Given the description of an element on the screen output the (x, y) to click on. 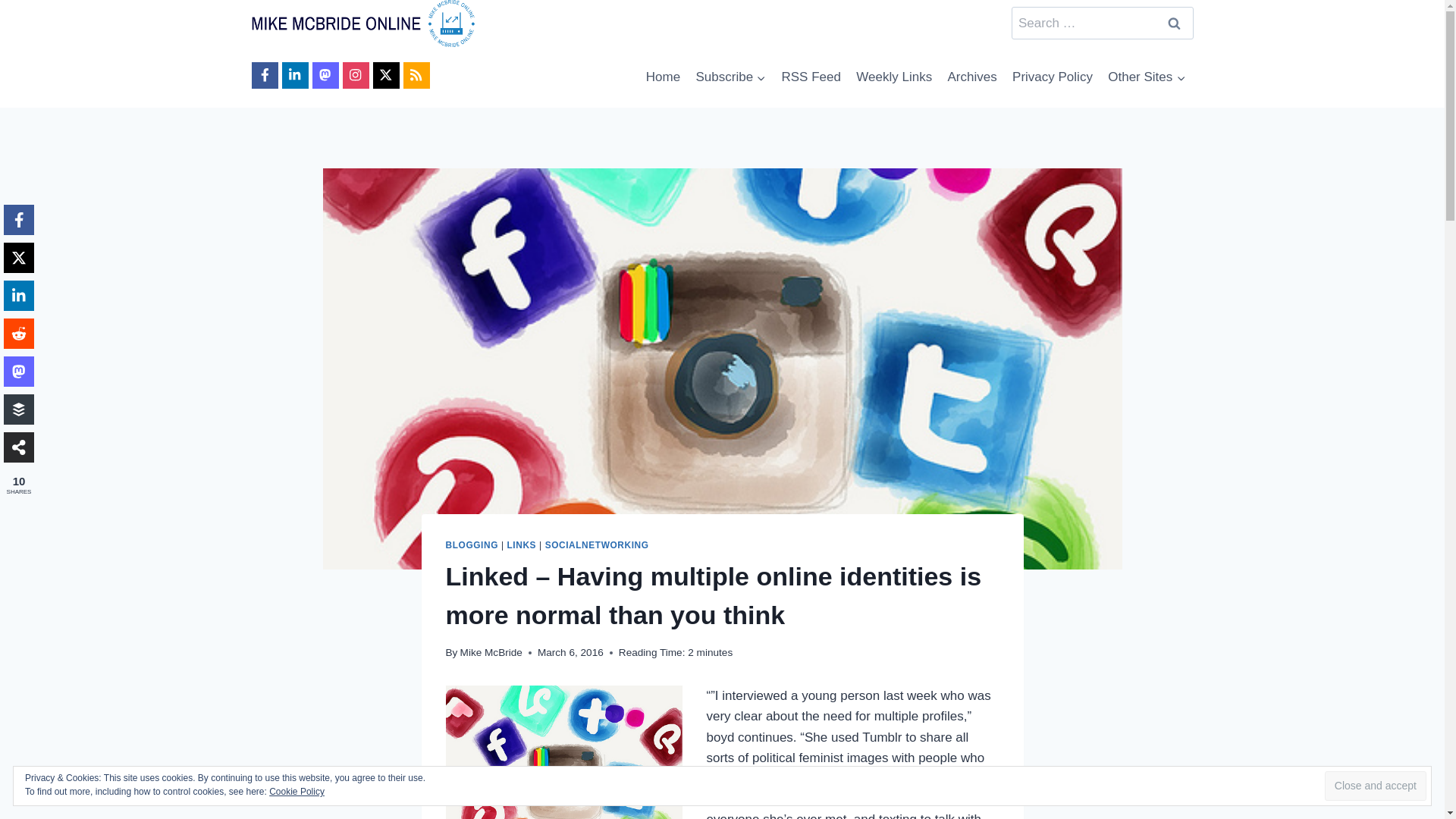
Home (663, 76)
Search (1174, 22)
Search (1174, 22)
Mike McBride (491, 652)
Privacy Policy (1052, 76)
Archives (971, 76)
RSS Feed (810, 76)
Subscribe (730, 76)
SOCIALNETWORKING (596, 544)
BLOGGING (472, 544)
